Given the description of an element on the screen output the (x, y) to click on. 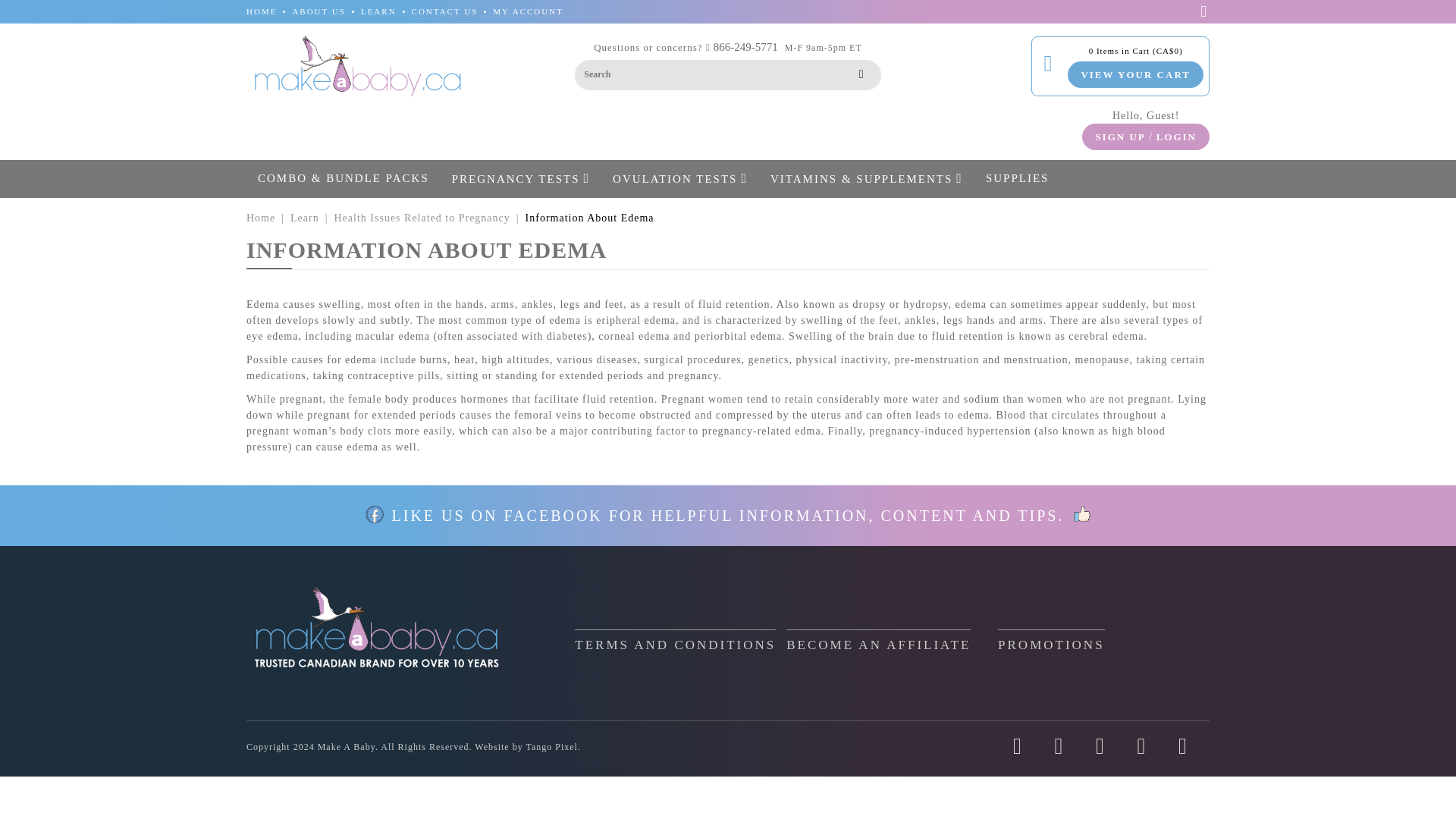
BECOME AN AFFILIATE (878, 640)
Tango Pixel. (552, 747)
SIGN UP (1119, 136)
PREGNANCY TESTS (521, 177)
Learn (303, 217)
ABOUT US (319, 11)
HOME (261, 11)
TERMS AND CONDITIONS (675, 640)
Information About Edema (589, 217)
Home (260, 217)
866-249-5771 (745, 46)
CONTACT US (445, 11)
MY ACCOUNT (528, 11)
Health Issues Related to Pregnancy (421, 217)
